Given the description of an element on the screen output the (x, y) to click on. 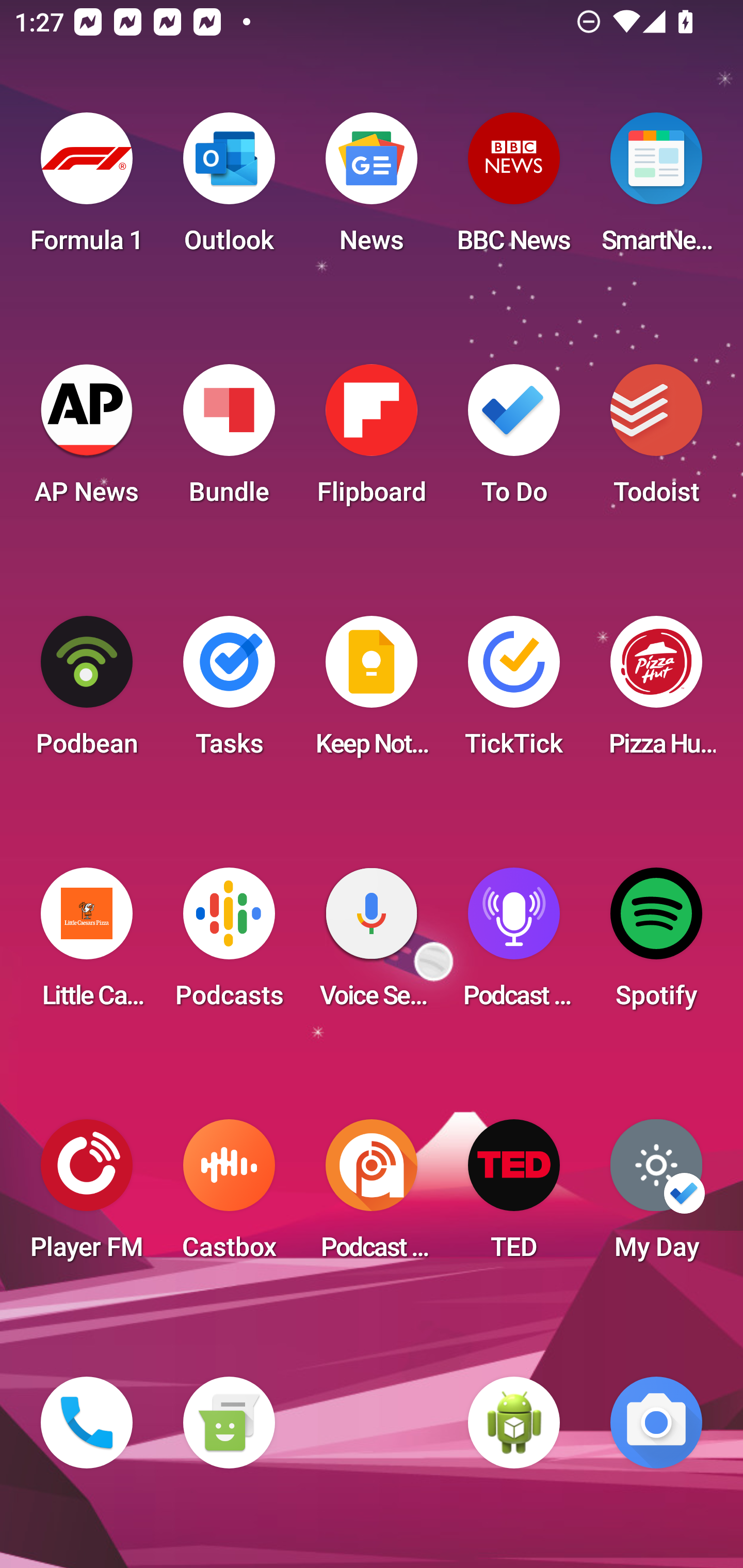
Formula 1 (86, 188)
Outlook (228, 188)
News (371, 188)
BBC News (513, 188)
SmartNews (656, 188)
AP News (86, 440)
Bundle (228, 440)
Flipboard (371, 440)
To Do (513, 440)
Todoist (656, 440)
Podbean (86, 692)
Tasks (228, 692)
Keep Notes (371, 692)
TickTick (513, 692)
Pizza Hut HK & Macau (656, 692)
Little Caesars Pizza (86, 943)
Podcasts (228, 943)
Voice Search (371, 943)
Podcast Player (513, 943)
Spotify (656, 943)
Player FM (86, 1195)
Castbox (228, 1195)
Podcast Addict (371, 1195)
TED (513, 1195)
My Day (656, 1195)
Phone (86, 1422)
Messaging (228, 1422)
WebView Browser Tester (513, 1422)
Camera (656, 1422)
